Given the description of an element on the screen output the (x, y) to click on. 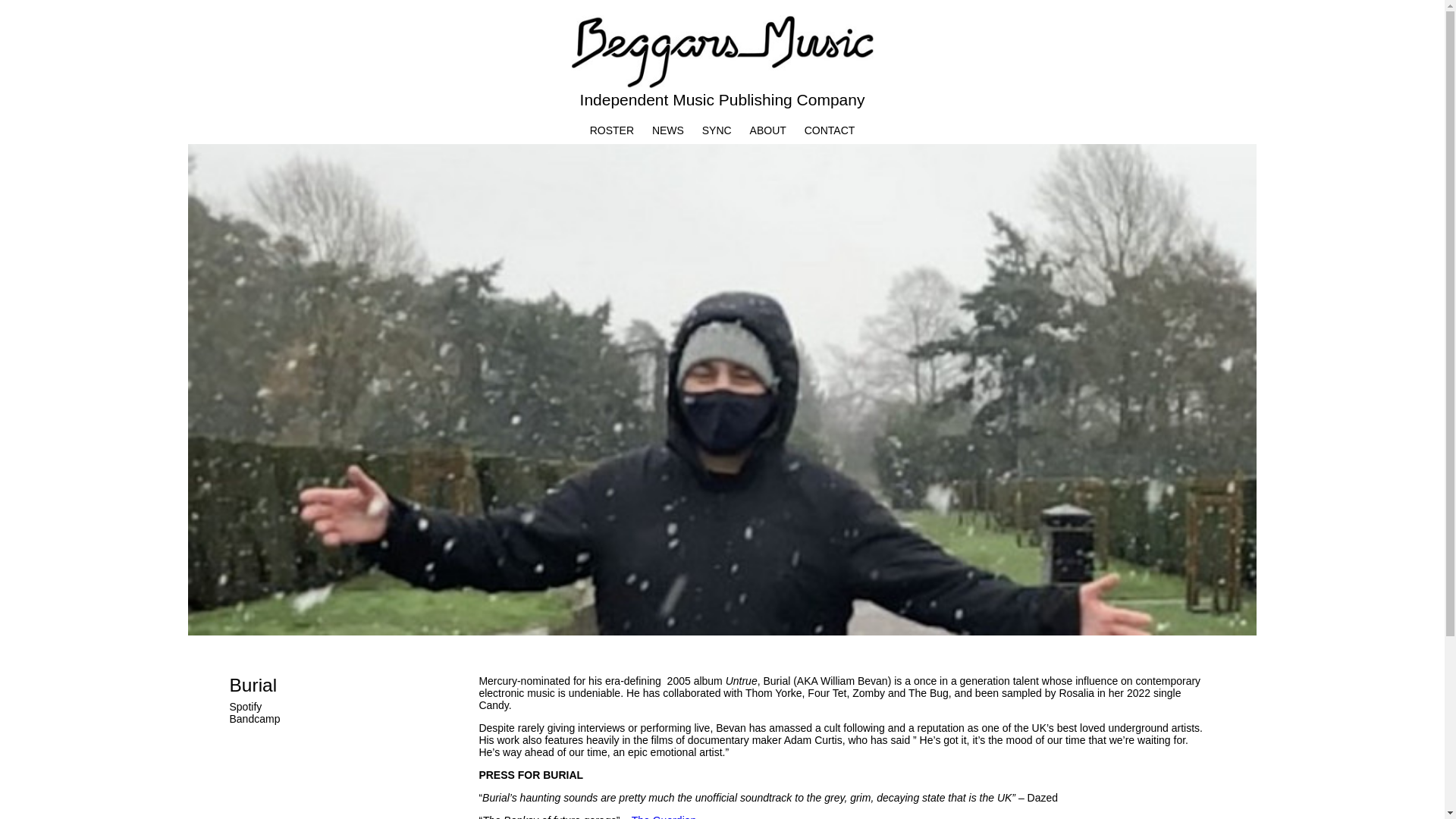
CONTACT (830, 130)
Spotify (245, 706)
The Guardian (664, 816)
NEWS (668, 130)
SYNC (716, 130)
Bandcamp (253, 718)
ROSTER (611, 130)
ABOUT (767, 130)
